Given the description of an element on the screen output the (x, y) to click on. 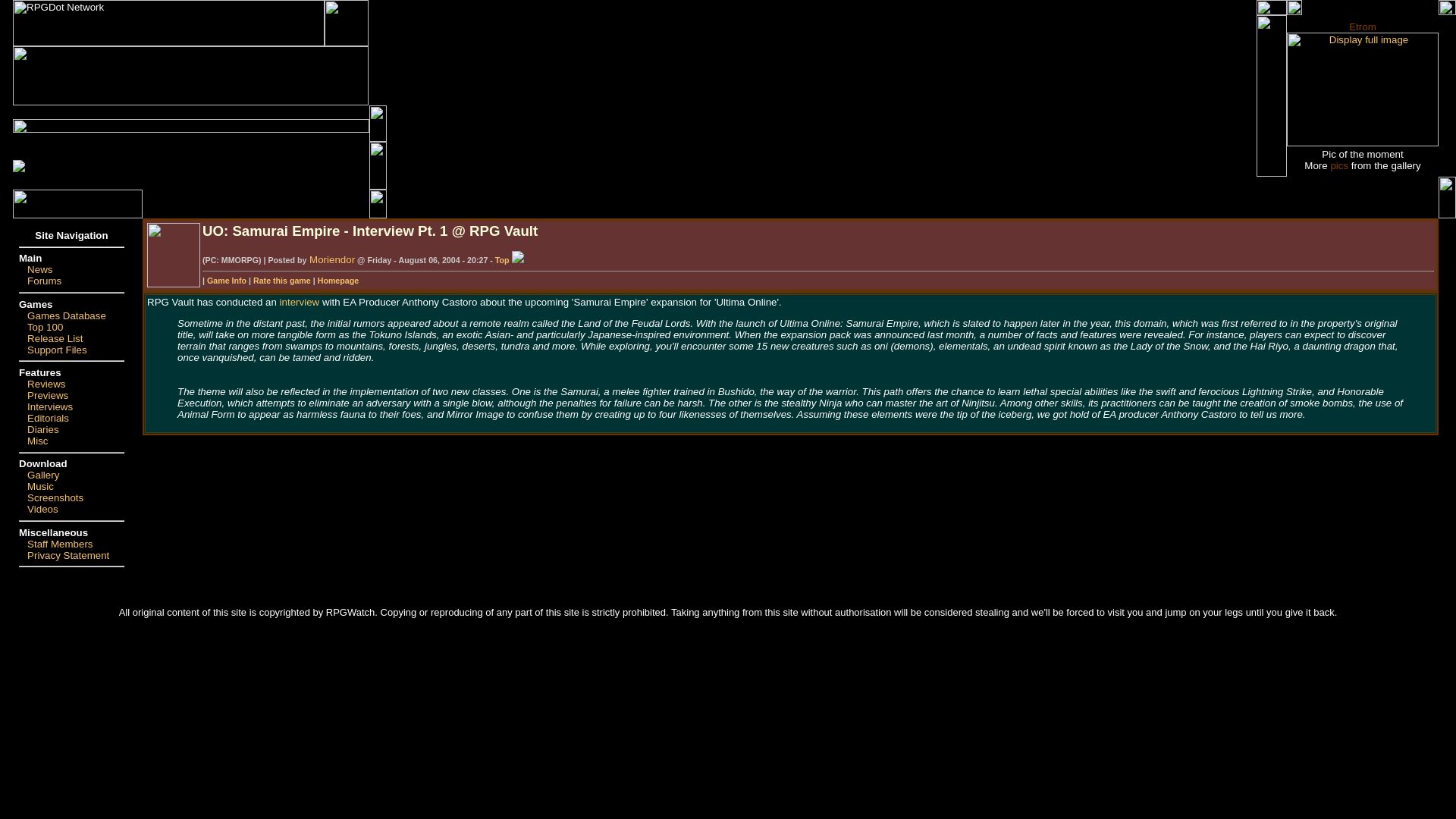
Support Files (57, 349)
Etrom (1362, 26)
interview (299, 301)
Forums (44, 280)
Release List (54, 337)
Privacy Statement (68, 555)
Rate this game (282, 280)
Editorials (47, 418)
Game Info (226, 280)
Reviews (46, 383)
